Given the description of an element on the screen output the (x, y) to click on. 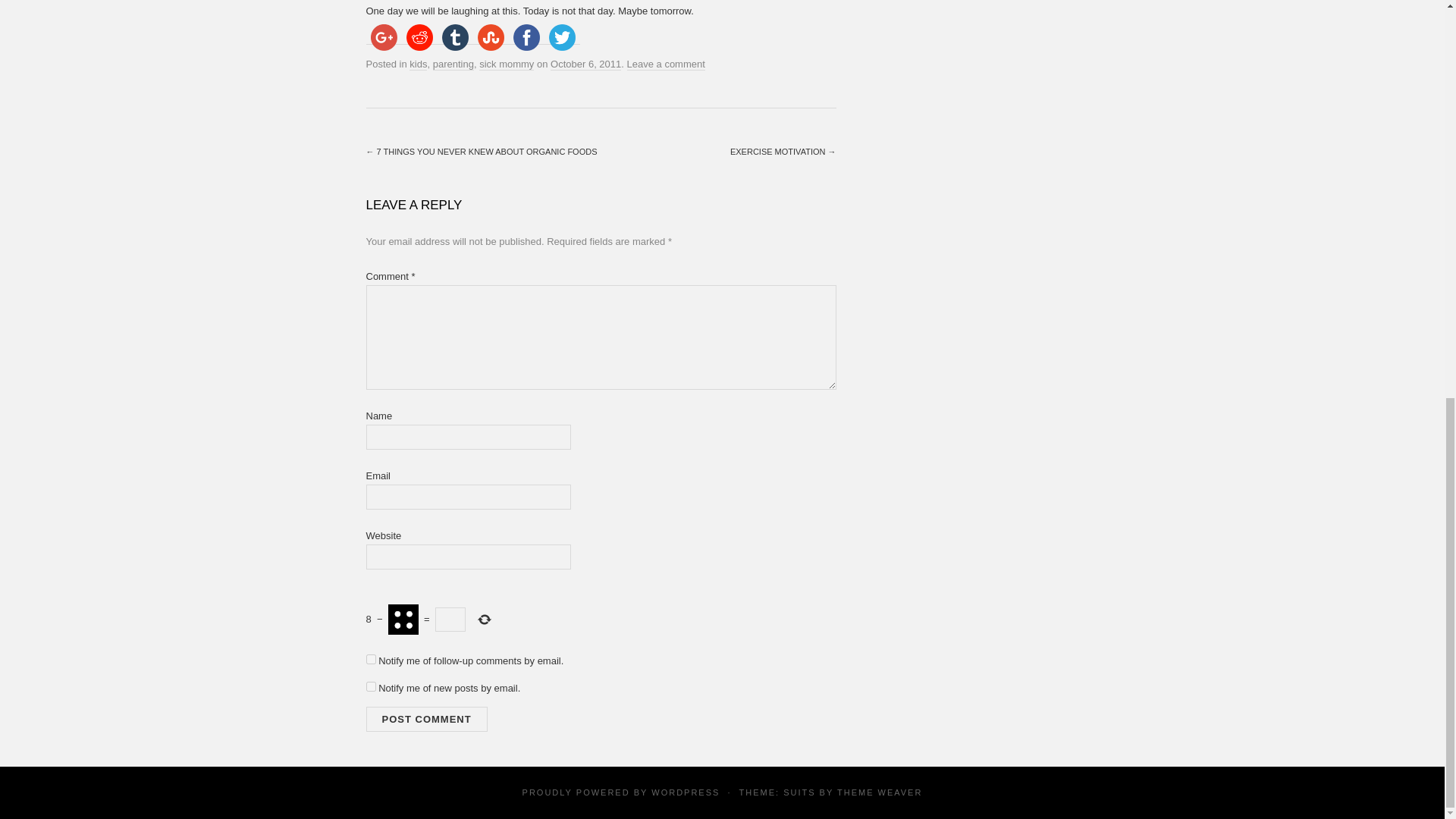
parenting (453, 64)
kids (417, 64)
Post Comment (425, 719)
THEME WEAVER (879, 791)
google (383, 37)
tumblr (453, 37)
Leave a comment (665, 64)
October 6, 2011 (585, 64)
sick mommy (506, 64)
facebook (525, 37)
